Given the description of an element on the screen output the (x, y) to click on. 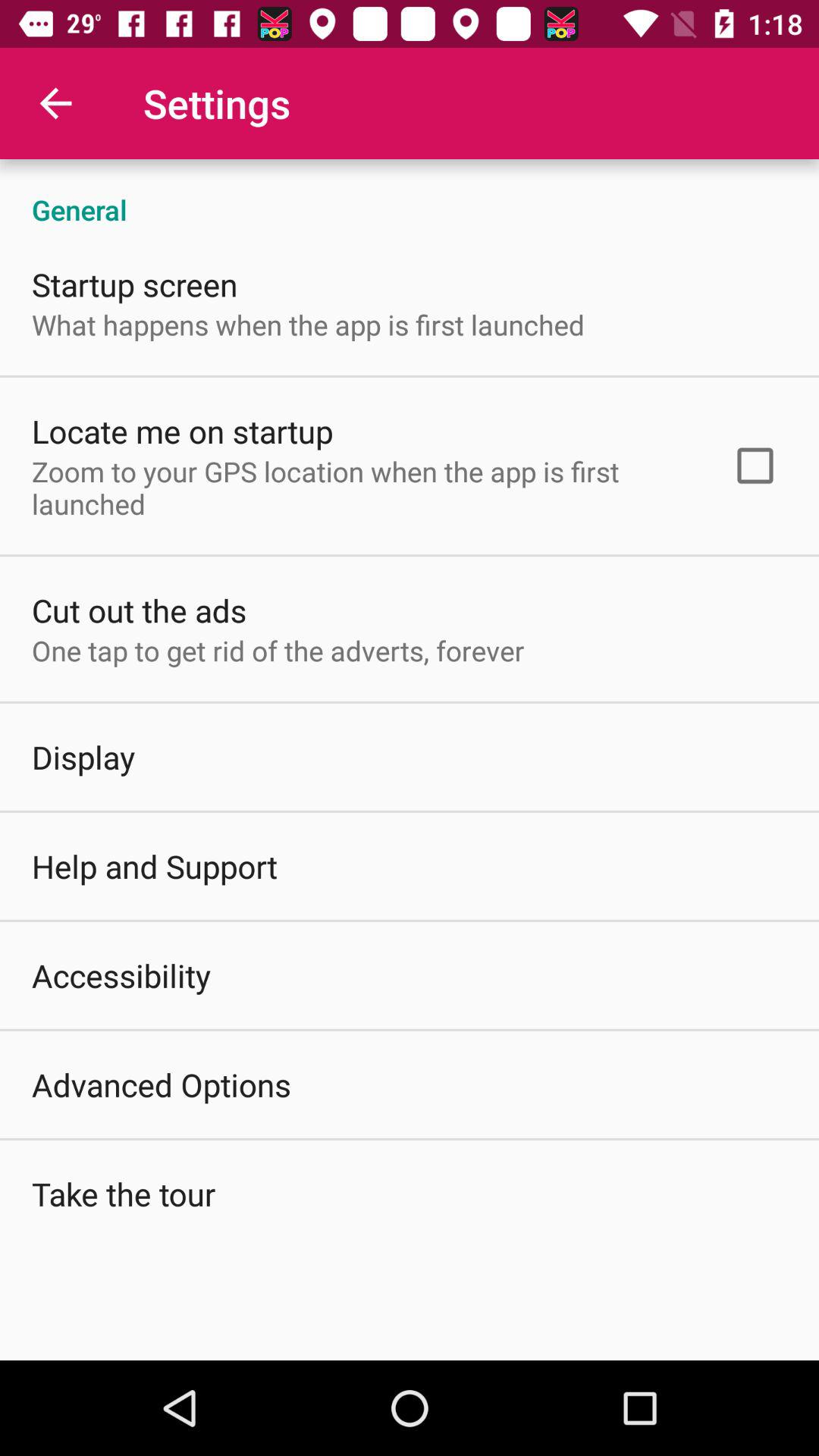
launch the zoom to your item (361, 487)
